Given the description of an element on the screen output the (x, y) to click on. 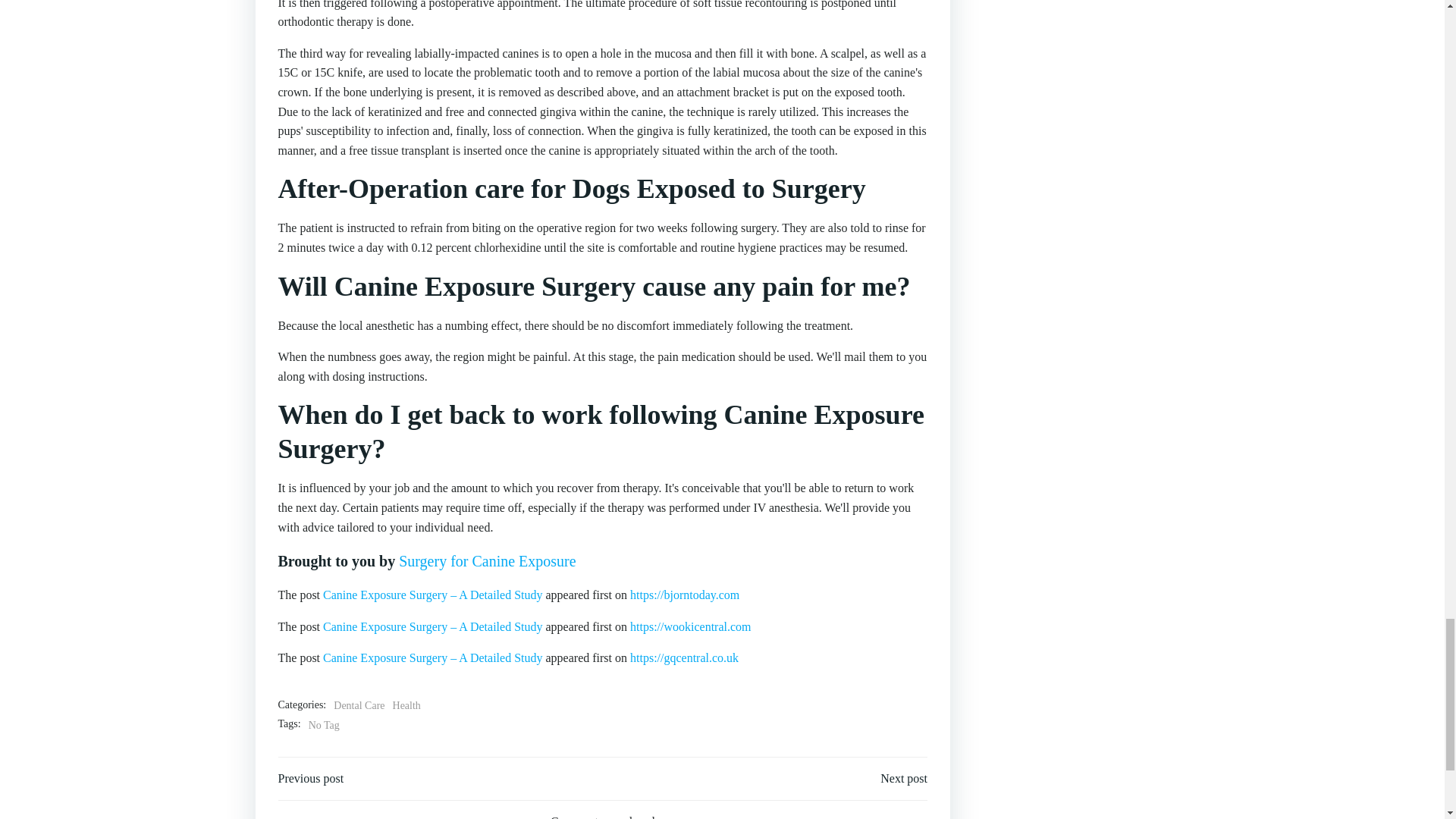
Previous post (310, 778)
Next post (903, 778)
Surgery for Canine Exposure (486, 560)
Health (406, 705)
Dental Care (358, 705)
